Given the description of an element on the screen output the (x, y) to click on. 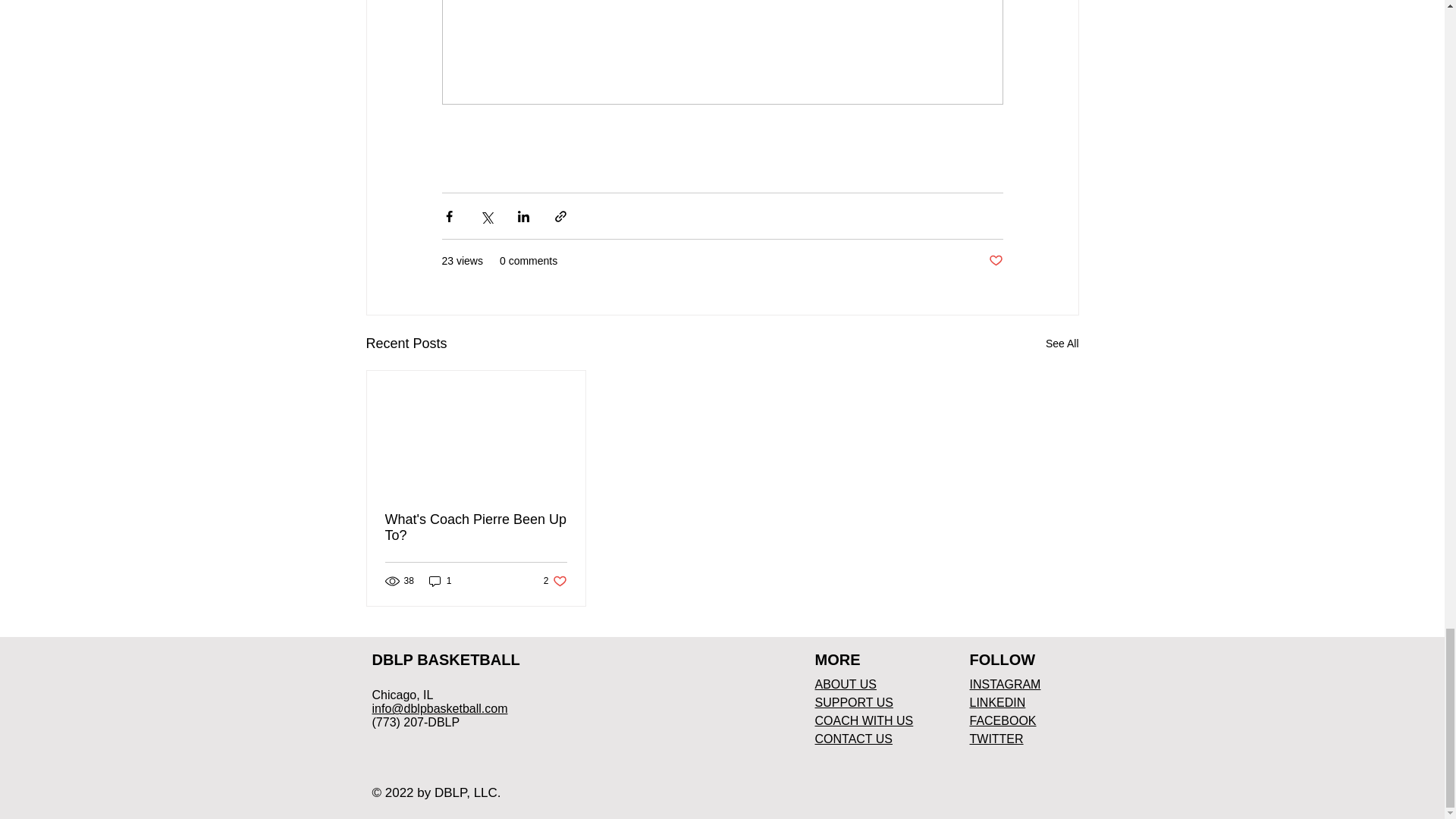
1 (440, 581)
Post not marked as liked (995, 261)
See All (1061, 343)
What's Coach Pierre Been Up To? (476, 527)
